Given the description of an element on the screen output the (x, y) to click on. 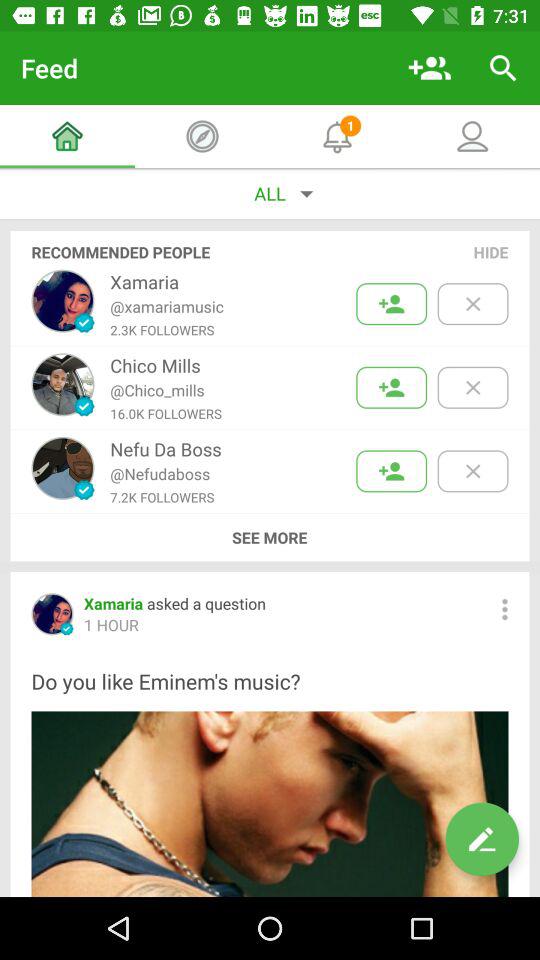
flip to the nefu da boss item (165, 448)
